Given the description of an element on the screen output the (x, y) to click on. 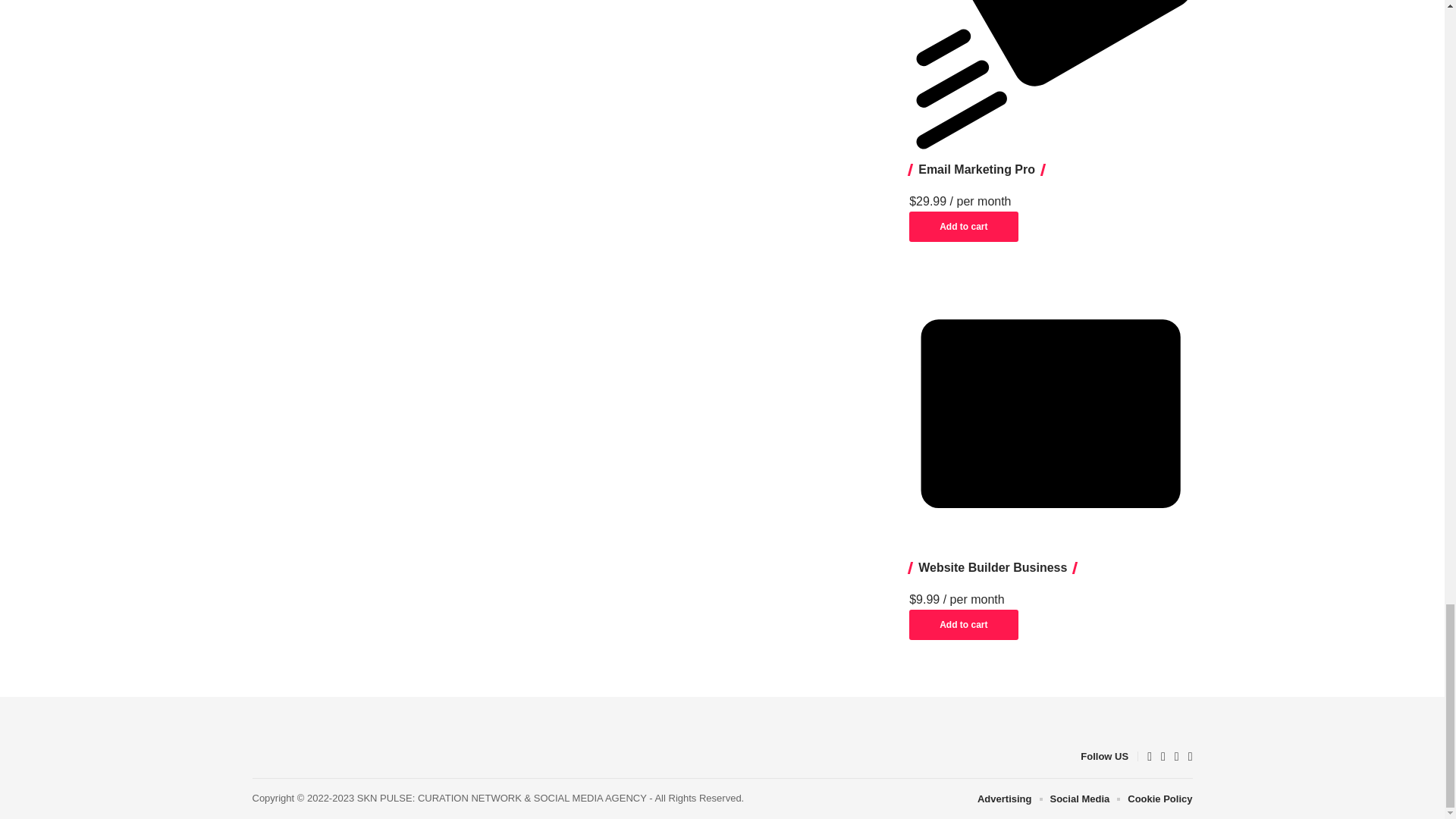
Website Builder (1050, 413)
Email Marketing (1050, 79)
